Given the description of an element on the screen output the (x, y) to click on. 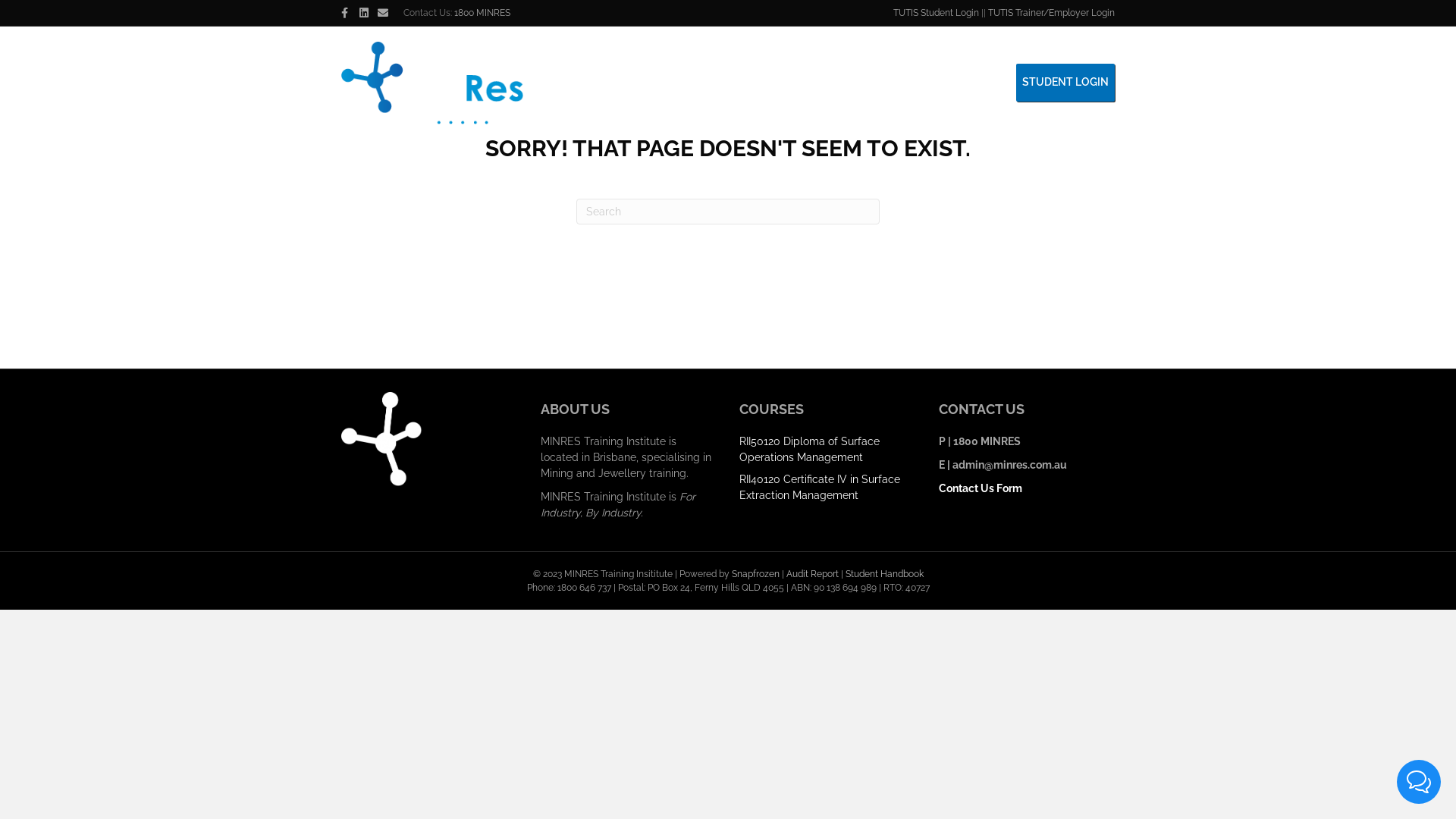
Linkedin Element type: text (368, 11)
RII50120 Diploma of Surface Operations Management Element type: text (809, 449)
Type and press Enter to search. Element type: hover (727, 211)
TUTIS Student Login Element type: text (936, 12)
Student Handbook Element type: text (883, 573)
INFORMATION Element type: text (734, 82)
Contact Us Form Element type: text (980, 488)
COURSES Element type: text (819, 82)
Snapfrozen Element type: text (754, 573)
Email Element type: text (386, 11)
ENROL NOW Element type: text (977, 82)
ABOUT US Element type: text (652, 82)
RII40120 Certificate IV in Surface Extraction Management Element type: text (819, 487)
TUTIS Trainer/Employer Login Element type: text (1051, 12)
Audit Report Element type: text (811, 573)
1800 MINRES Element type: text (482, 12)
Facebook Element type: text (350, 11)
CONTACT US Element type: text (897, 82)
STUDENT LOGIN Element type: text (1065, 82)
